Given the description of an element on the screen output the (x, y) to click on. 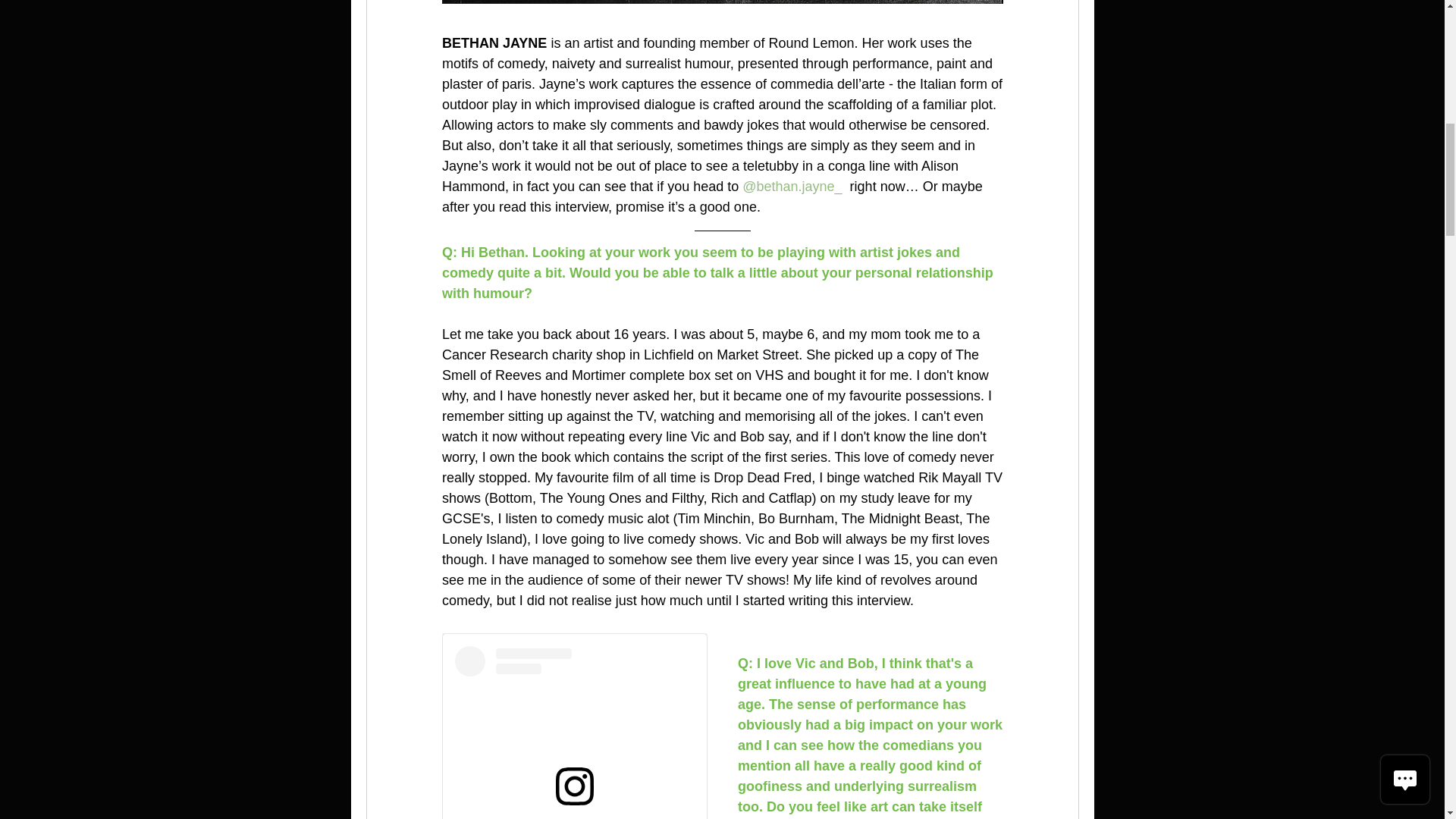
remote content (573, 726)
